Given the description of an element on the screen output the (x, y) to click on. 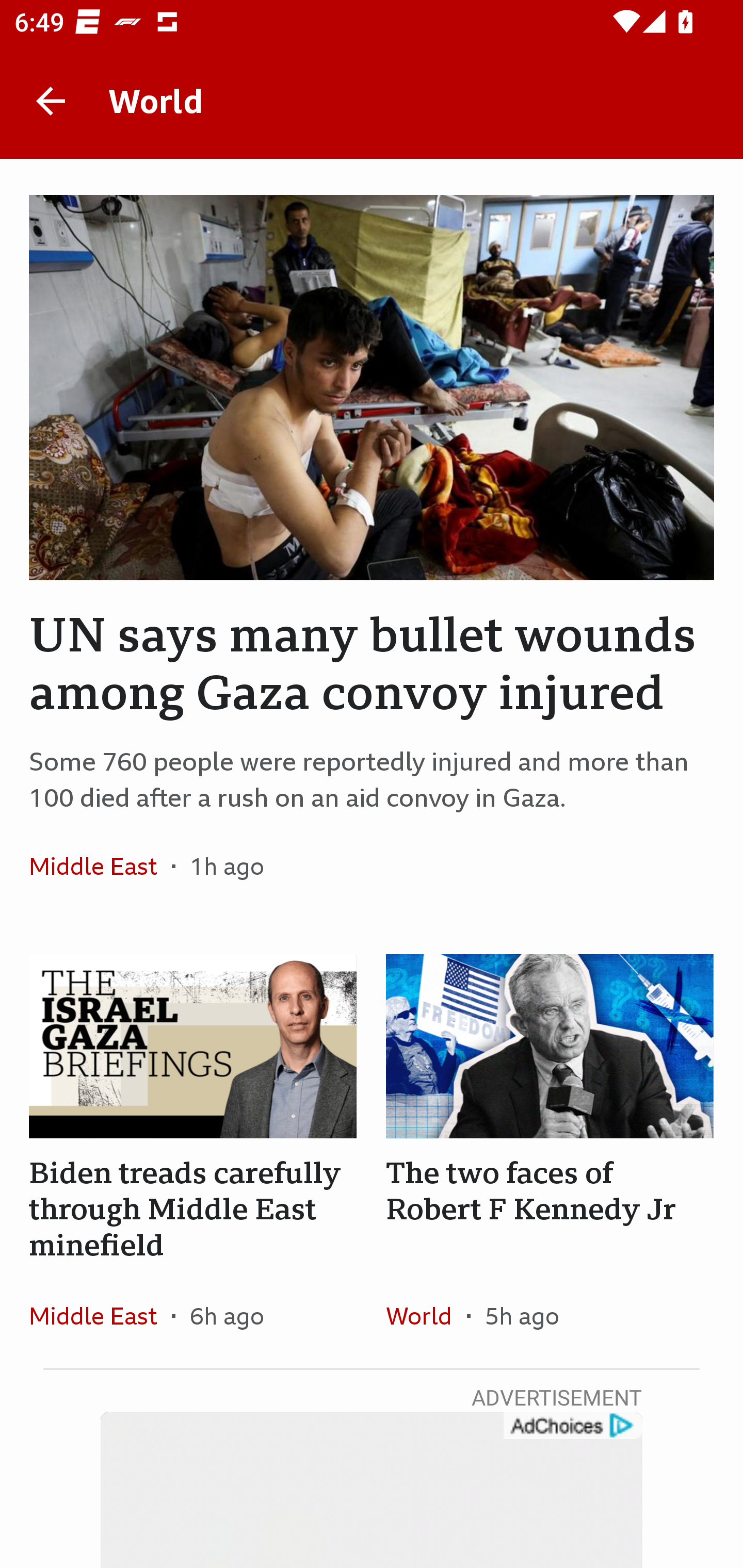
Back (50, 101)
Middle East In the section Middle East (99, 865)
Middle East In the section Middle East (99, 1315)
World In the section World (425, 1315)
get?name=admarker-full-tl (571, 1425)
